Given the description of an element on the screen output the (x, y) to click on. 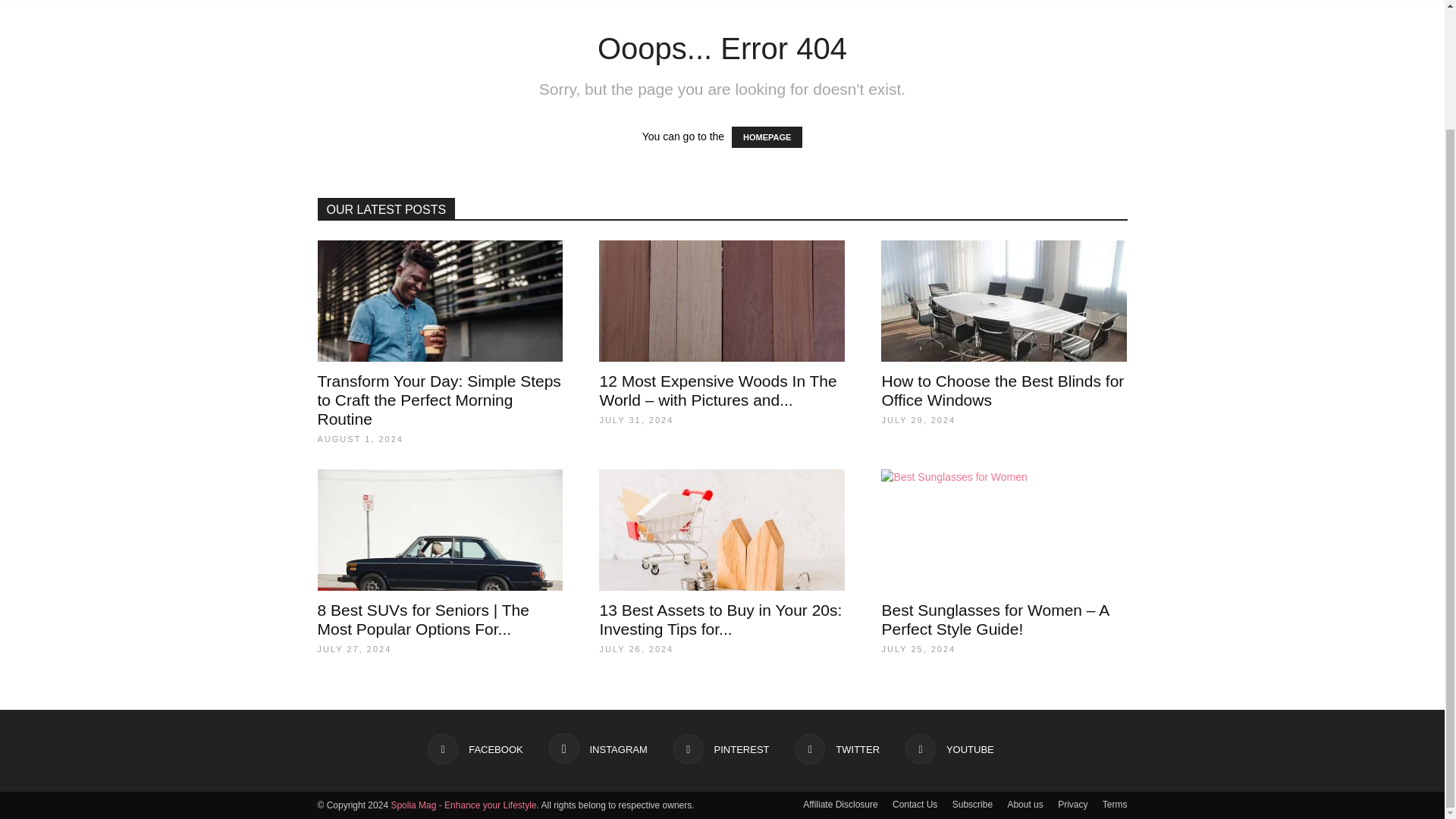
How to Choose the Best Blinds for Office Windows (1002, 390)
How to Choose the Best Blinds for Office Windows (1003, 300)
